Given the description of an element on the screen output the (x, y) to click on. 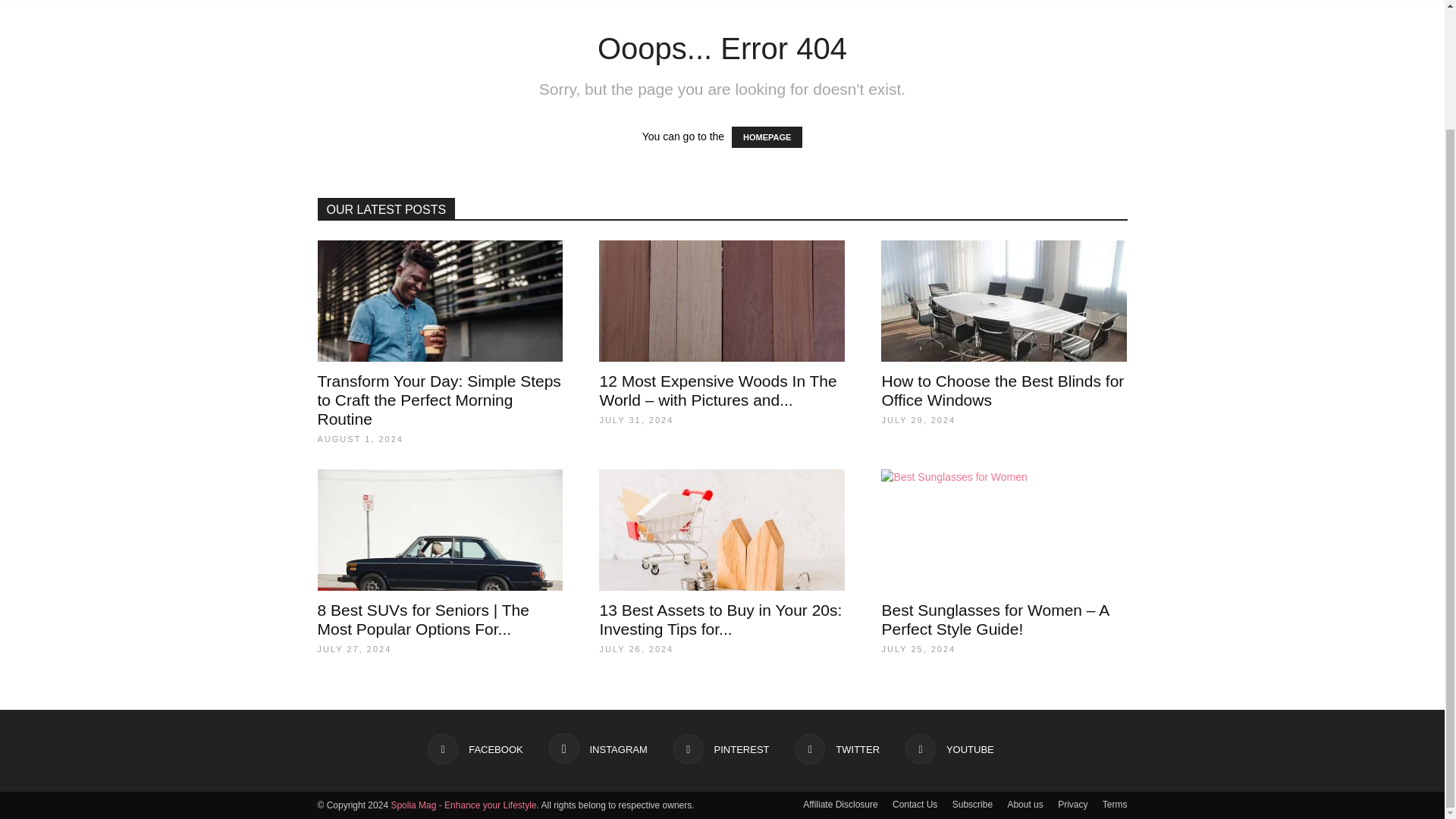
How to Choose the Best Blinds for Office Windows (1002, 390)
How to Choose the Best Blinds for Office Windows (1003, 300)
